Given the description of an element on the screen output the (x, y) to click on. 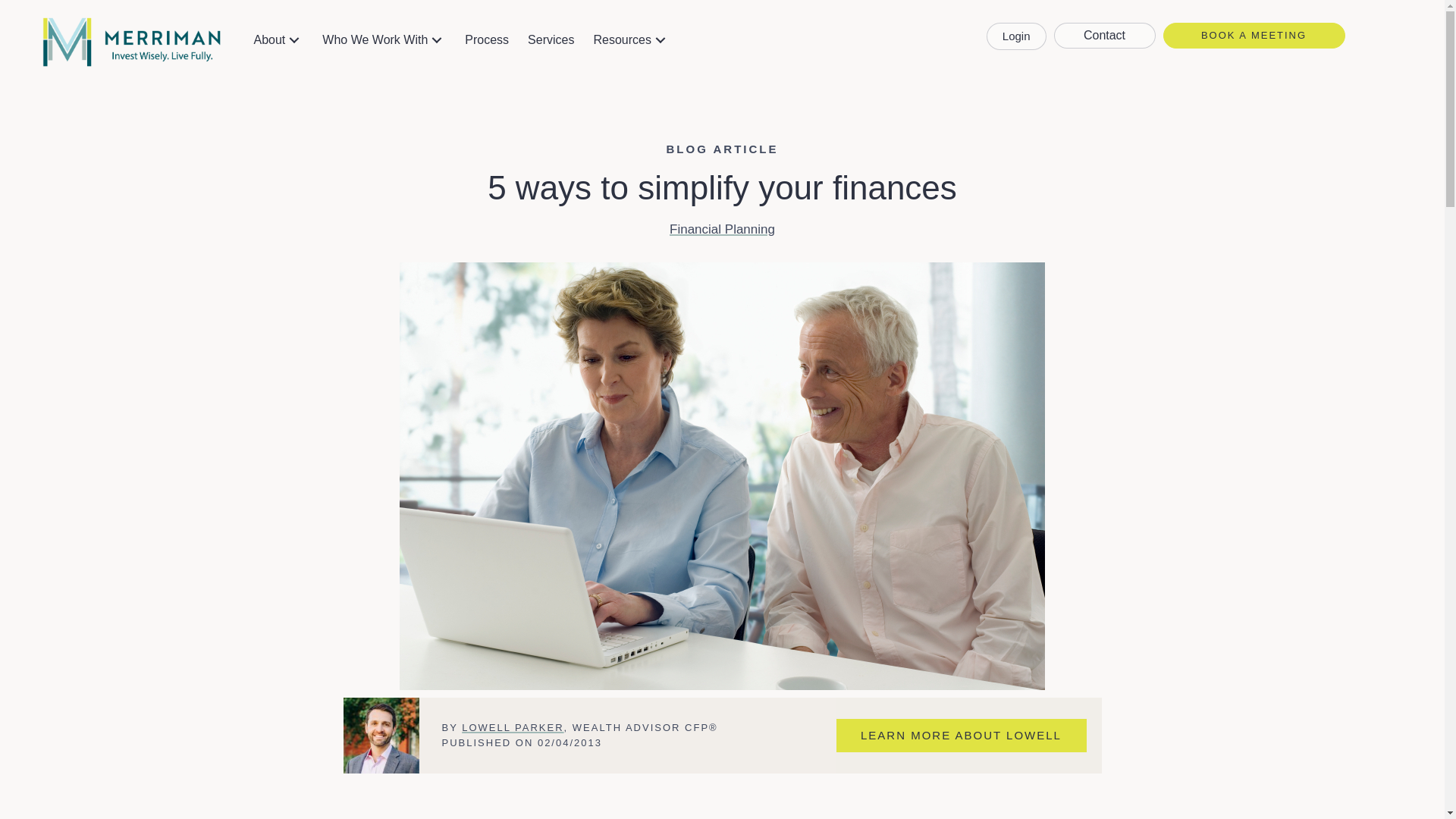
Resources (631, 39)
Services (549, 39)
Who We Work With (383, 39)
Lowell Parker (380, 735)
Process (486, 39)
About (278, 39)
merriman-wealth-management-logo (131, 41)
